Given the description of an element on the screen output the (x, y) to click on. 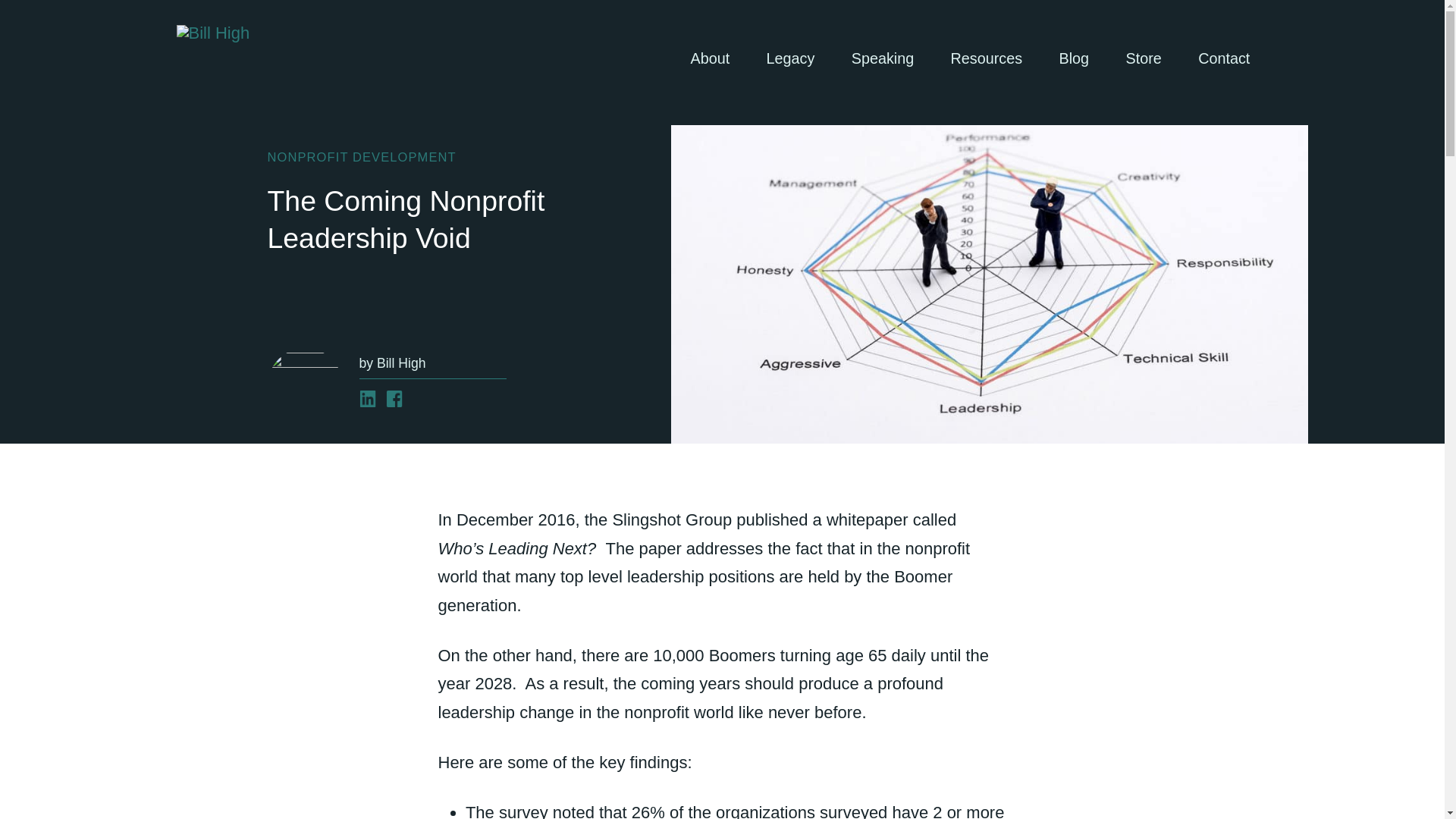
Store (1142, 58)
About (709, 58)
Legacy (790, 58)
Resources (986, 58)
Speaking (881, 58)
Blog (1073, 58)
Contact (1223, 58)
NONPROFIT DEVELOPMENT (360, 156)
